Given the description of an element on the screen output the (x, y) to click on. 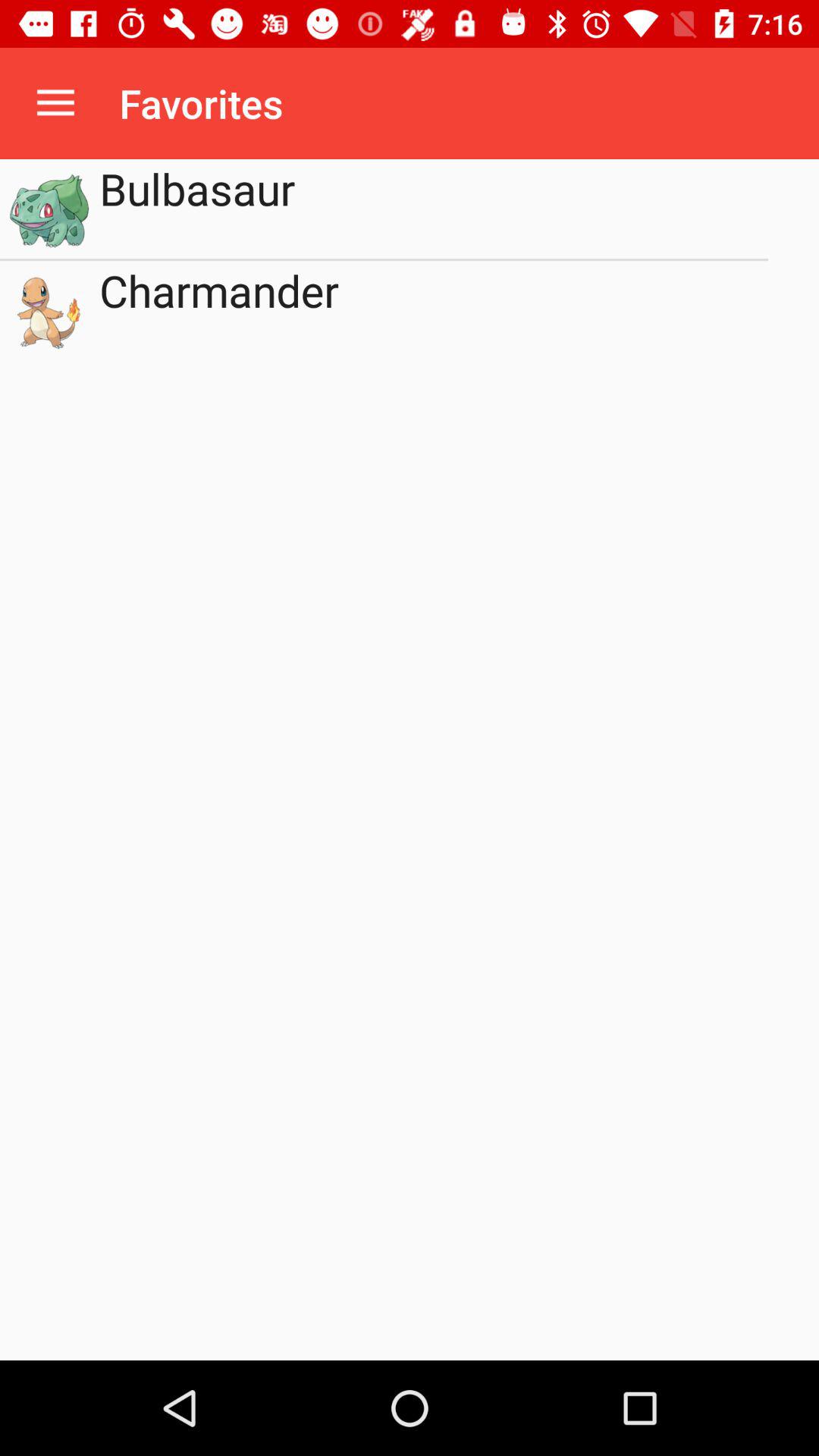
launch bulbasaur item (433, 208)
